Given the description of an element on the screen output the (x, y) to click on. 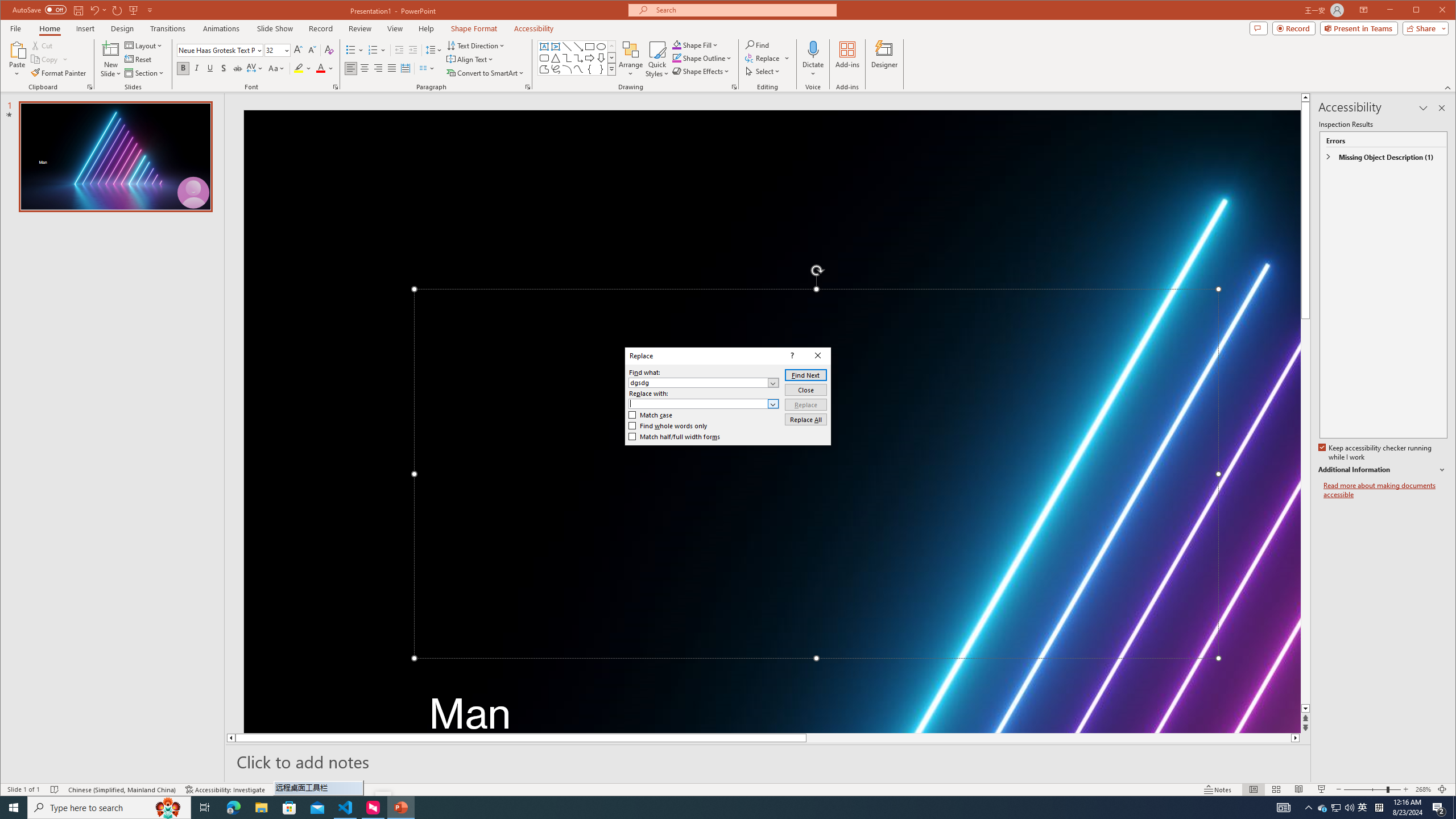
Replace (805, 404)
